Given the description of an element on the screen output the (x, y) to click on. 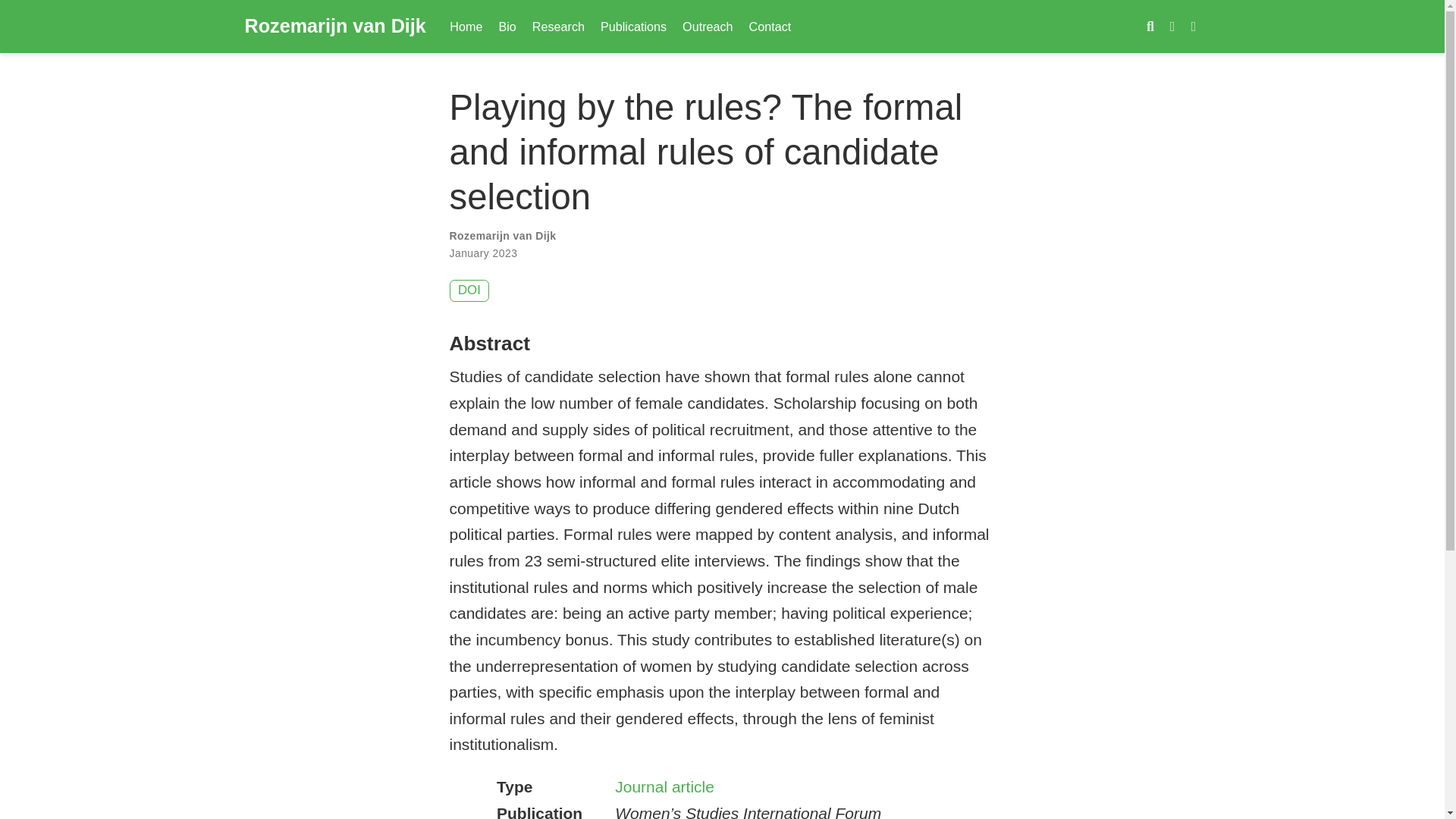
Bio (507, 25)
Contact (770, 25)
Journal article (664, 786)
Research (558, 25)
Outreach (708, 25)
Rozemarijn van Dijk (334, 26)
DOI (468, 291)
Home (466, 25)
Publications (633, 25)
